Given the description of an element on the screen output the (x, y) to click on. 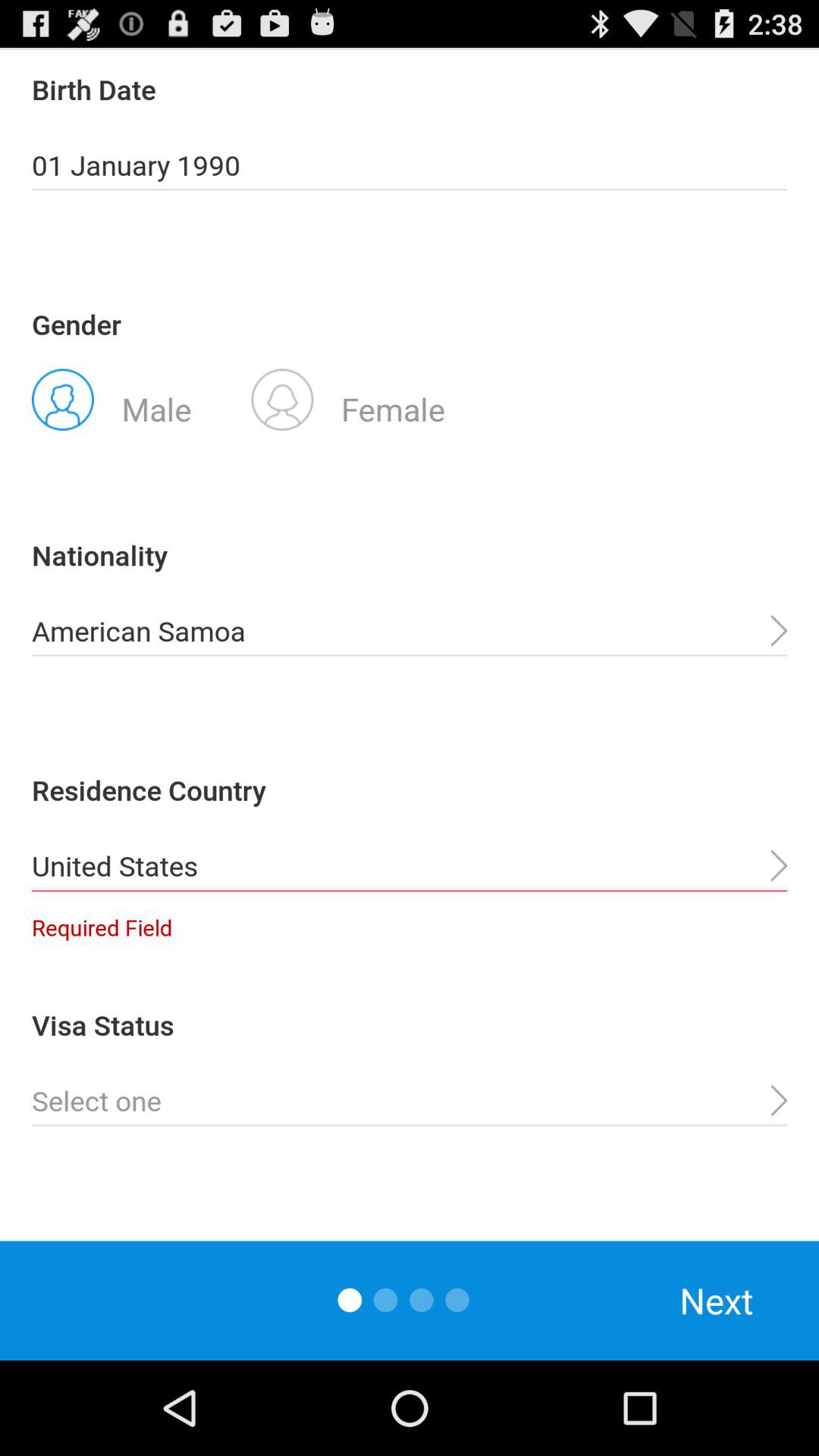
click the next item (716, 1300)
